Given the description of an element on the screen output the (x, y) to click on. 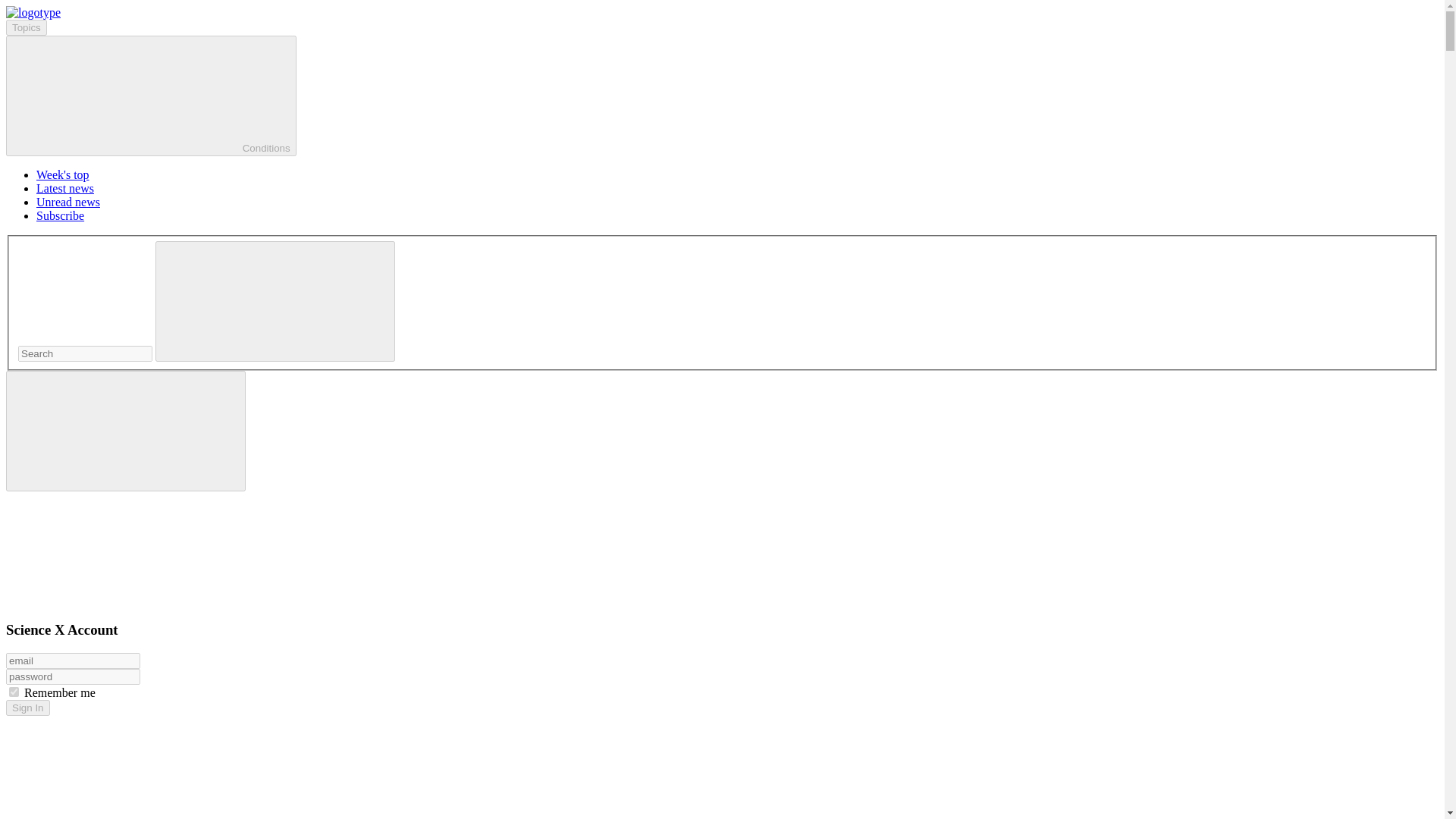
Week's top (62, 174)
Sign In (27, 707)
Conditions (151, 96)
Latest news (65, 187)
on (13, 691)
Topics (25, 27)
Unread news (68, 201)
Subscribe (60, 215)
